Given the description of an element on the screen output the (x, y) to click on. 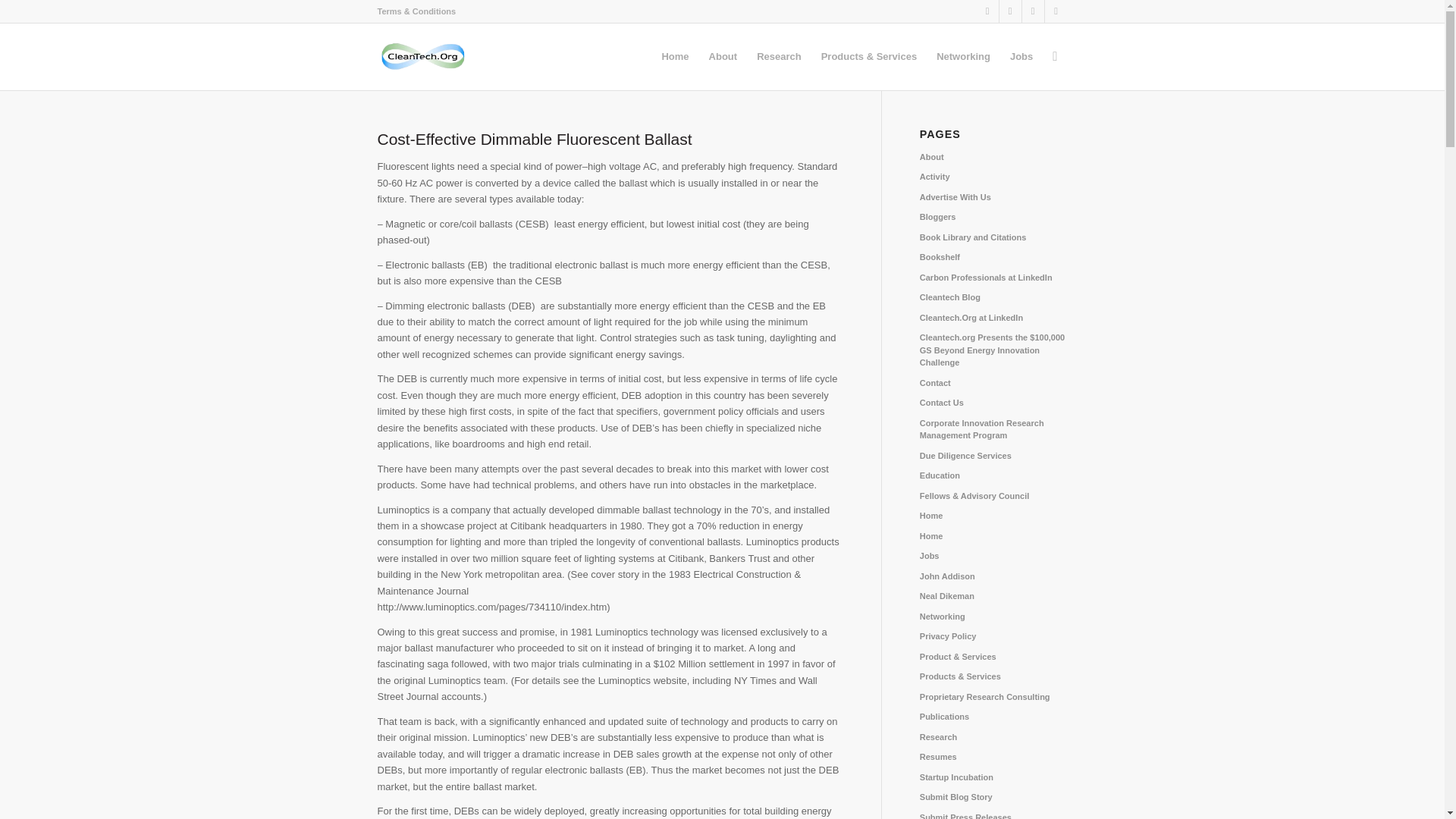
Permanent Link: Cost-Effective Dimmable Fluorescent Ballast (535, 139)
Bookshelf (939, 256)
Advertise With Us (955, 196)
Carbon Professionals at LinkedIn (986, 276)
Facebook (1032, 11)
Research (778, 56)
Activity (935, 175)
Twitter (1010, 11)
About (931, 156)
Linkedin (987, 11)
Reddit (1056, 11)
Networking (963, 56)
Book Library and Citations (973, 236)
Cost-Effective Dimmable Fluorescent Ballast (535, 139)
Bloggers (938, 216)
